Given the description of an element on the screen output the (x, y) to click on. 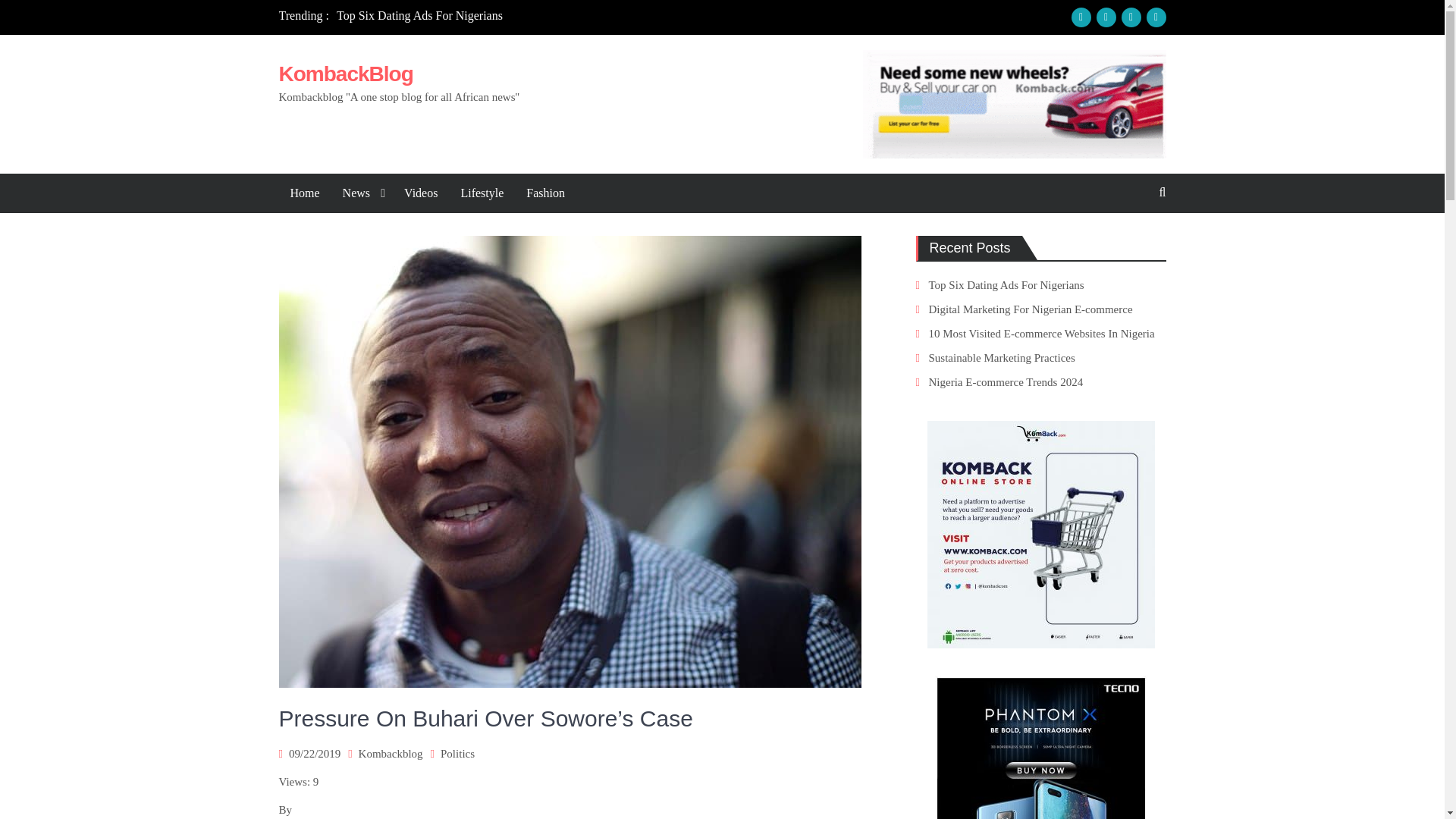
Top Six Dating Ads For Nigerians (419, 15)
Kombackblog (390, 753)
KombackBlog (346, 73)
Facebook (1080, 17)
Fashion (545, 192)
Lifestyle (481, 192)
youtube (1156, 17)
Home (305, 192)
Videos (420, 192)
Politics (457, 753)
News (362, 192)
Instagram (1106, 17)
twitter (1130, 17)
